Given the description of an element on the screen output the (x, y) to click on. 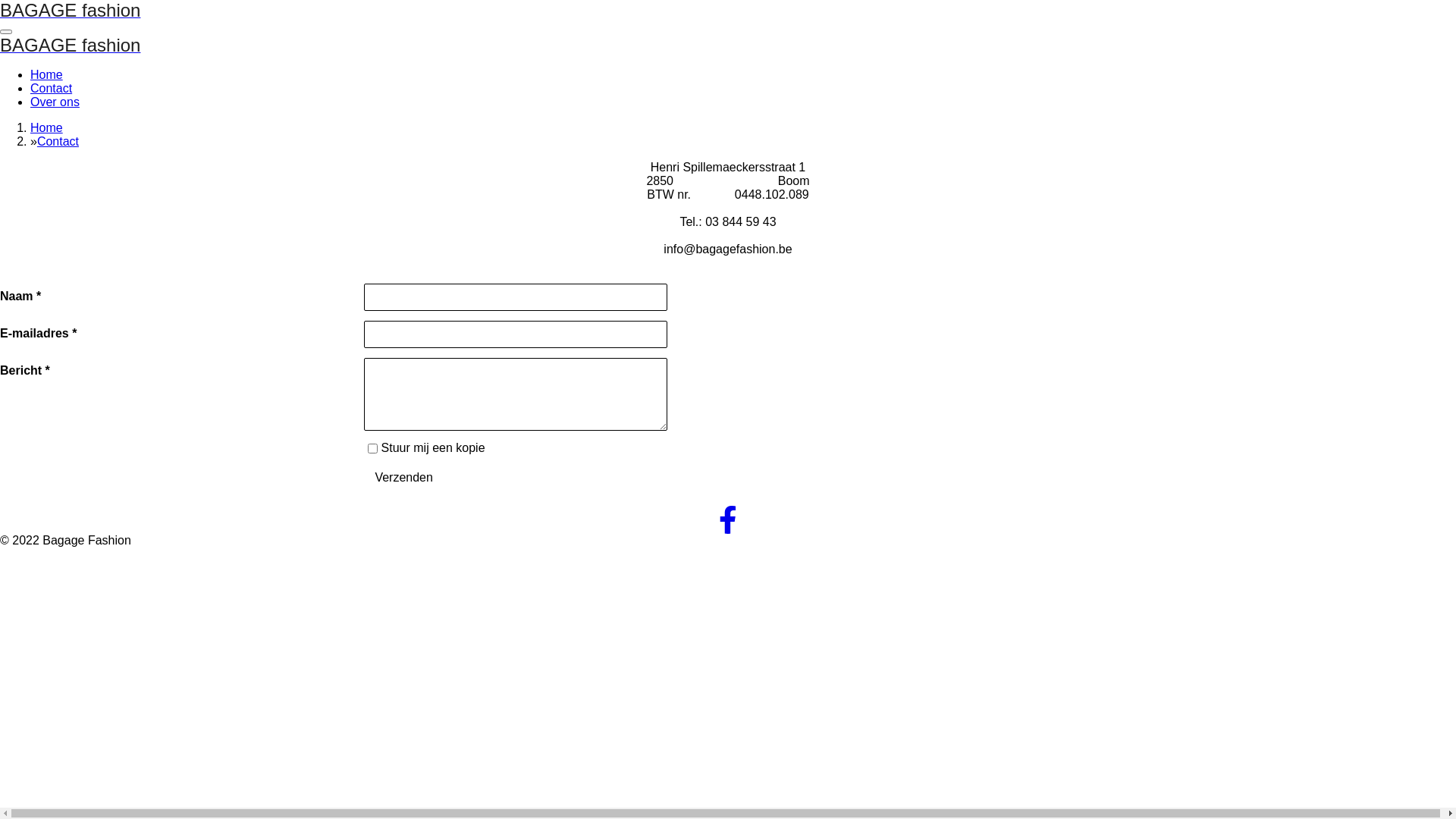
Verzenden Element type: text (403, 477)
BAGAGE fashion Element type: text (70, 46)
BAGAGE fashion Element type: text (70, 12)
Home Element type: text (46, 127)
Contact Element type: text (57, 140)
Over ons Element type: text (54, 101)
Contact Element type: text (51, 87)
Home Element type: text (46, 74)
